Given the description of an element on the screen output the (x, y) to click on. 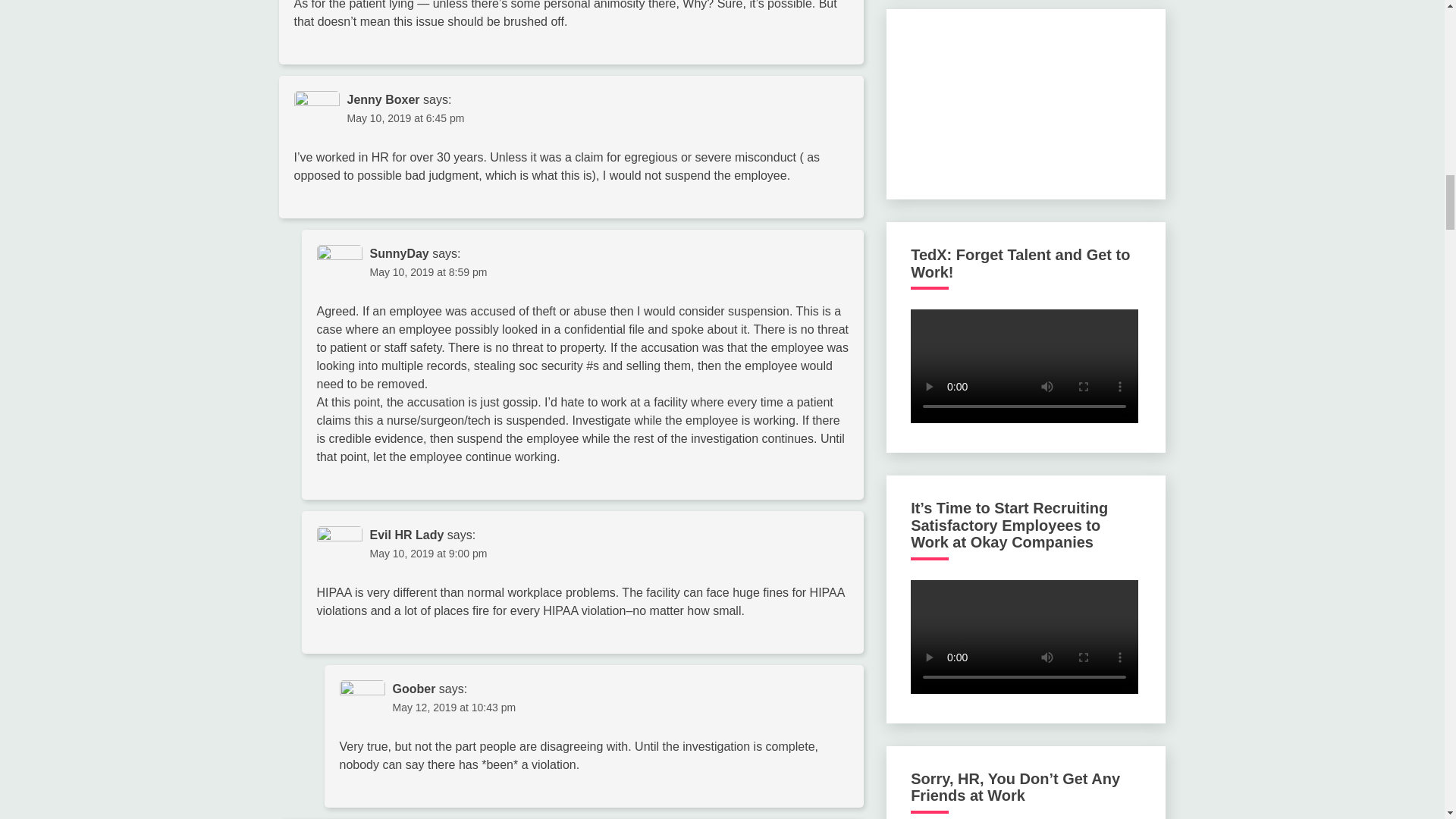
May 10, 2019 at 8:59 pm (428, 272)
May 10, 2019 at 6:45 pm (405, 118)
May 12, 2019 at 10:43 pm (454, 707)
May 10, 2019 at 9:00 pm (428, 553)
